Given the description of an element on the screen output the (x, y) to click on. 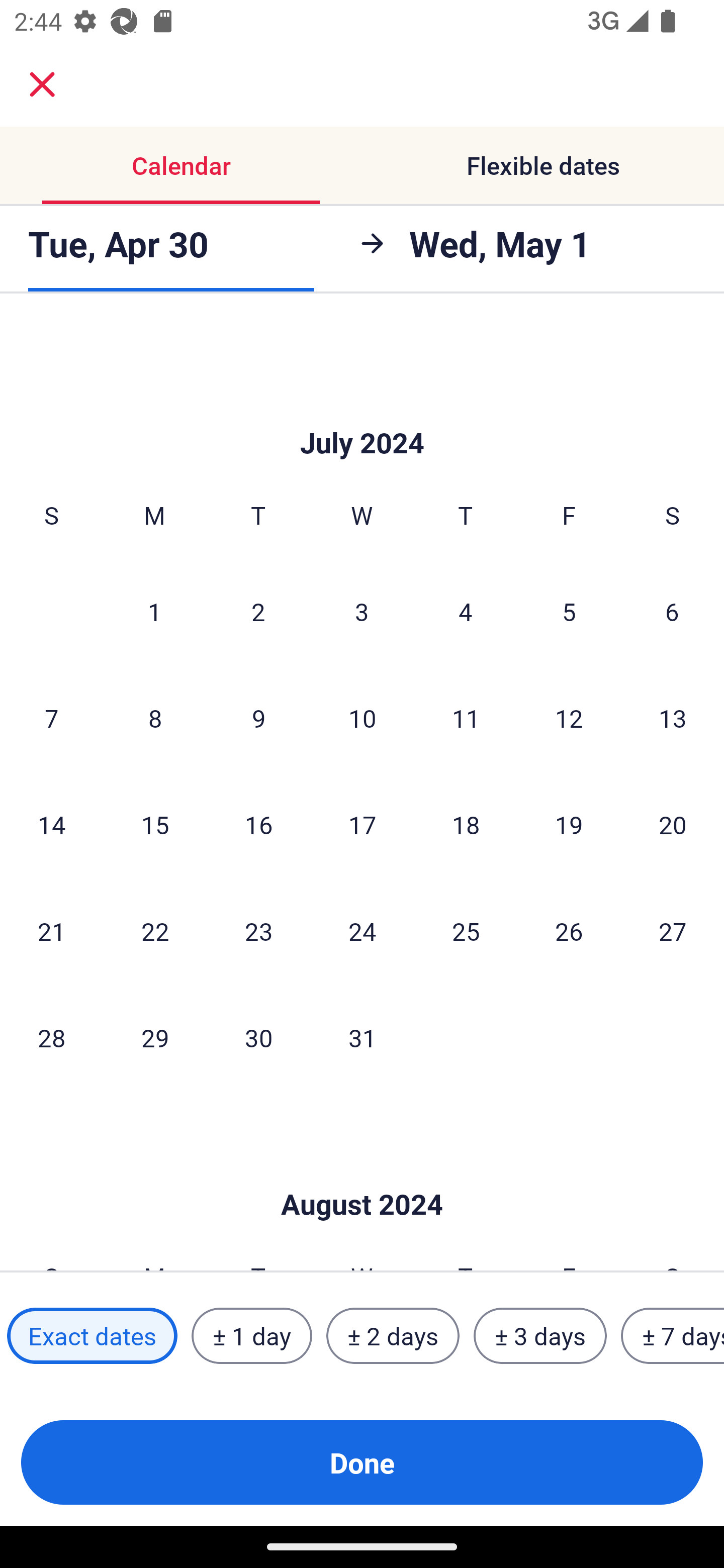
close. (42, 84)
Flexible dates (542, 164)
Skip to Done (362, 412)
1 Monday, July 1, 2024 (154, 611)
2 Tuesday, July 2, 2024 (257, 611)
3 Wednesday, July 3, 2024 (361, 611)
4 Thursday, July 4, 2024 (465, 611)
5 Friday, July 5, 2024 (568, 611)
6 Saturday, July 6, 2024 (672, 611)
7 Sunday, July 7, 2024 (51, 717)
8 Monday, July 8, 2024 (155, 717)
9 Tuesday, July 9, 2024 (258, 717)
10 Wednesday, July 10, 2024 (362, 717)
11 Thursday, July 11, 2024 (465, 717)
12 Friday, July 12, 2024 (569, 717)
13 Saturday, July 13, 2024 (672, 717)
14 Sunday, July 14, 2024 (51, 824)
15 Monday, July 15, 2024 (155, 824)
16 Tuesday, July 16, 2024 (258, 824)
17 Wednesday, July 17, 2024 (362, 824)
18 Thursday, July 18, 2024 (465, 824)
19 Friday, July 19, 2024 (569, 824)
20 Saturday, July 20, 2024 (672, 824)
21 Sunday, July 21, 2024 (51, 931)
22 Monday, July 22, 2024 (155, 931)
23 Tuesday, July 23, 2024 (258, 931)
24 Wednesday, July 24, 2024 (362, 931)
25 Thursday, July 25, 2024 (465, 931)
26 Friday, July 26, 2024 (569, 931)
27 Saturday, July 27, 2024 (672, 931)
28 Sunday, July 28, 2024 (51, 1037)
29 Monday, July 29, 2024 (155, 1037)
30 Tuesday, July 30, 2024 (258, 1037)
31 Wednesday, July 31, 2024 (362, 1037)
Skip to Done (362, 1174)
Exact dates (92, 1335)
± 1 day (251, 1335)
± 2 days (392, 1335)
± 3 days (539, 1335)
± 7 days (672, 1335)
Done (361, 1462)
